Given the description of an element on the screen output the (x, y) to click on. 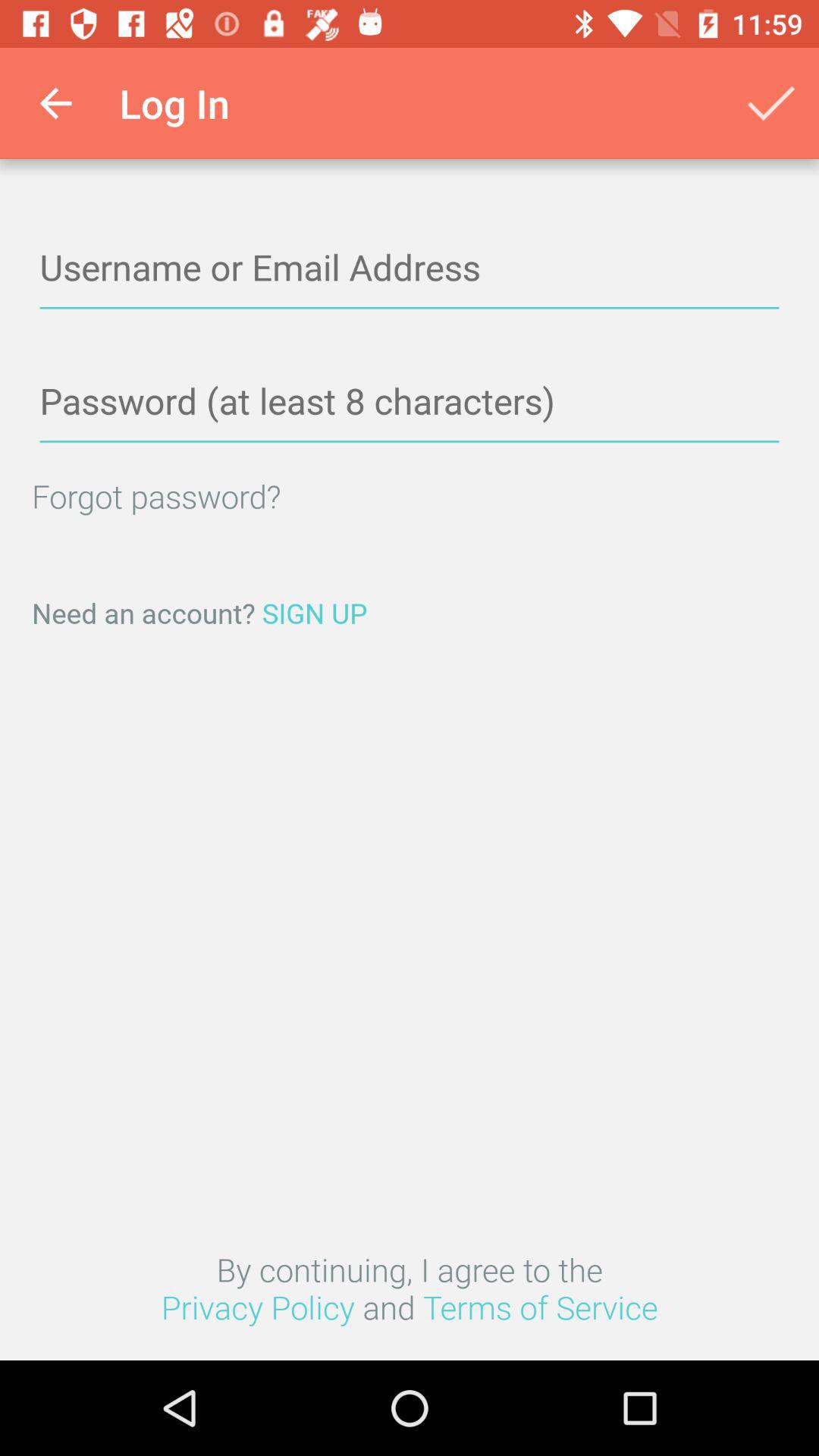
username dialogue box (409, 268)
